Given the description of an element on the screen output the (x, y) to click on. 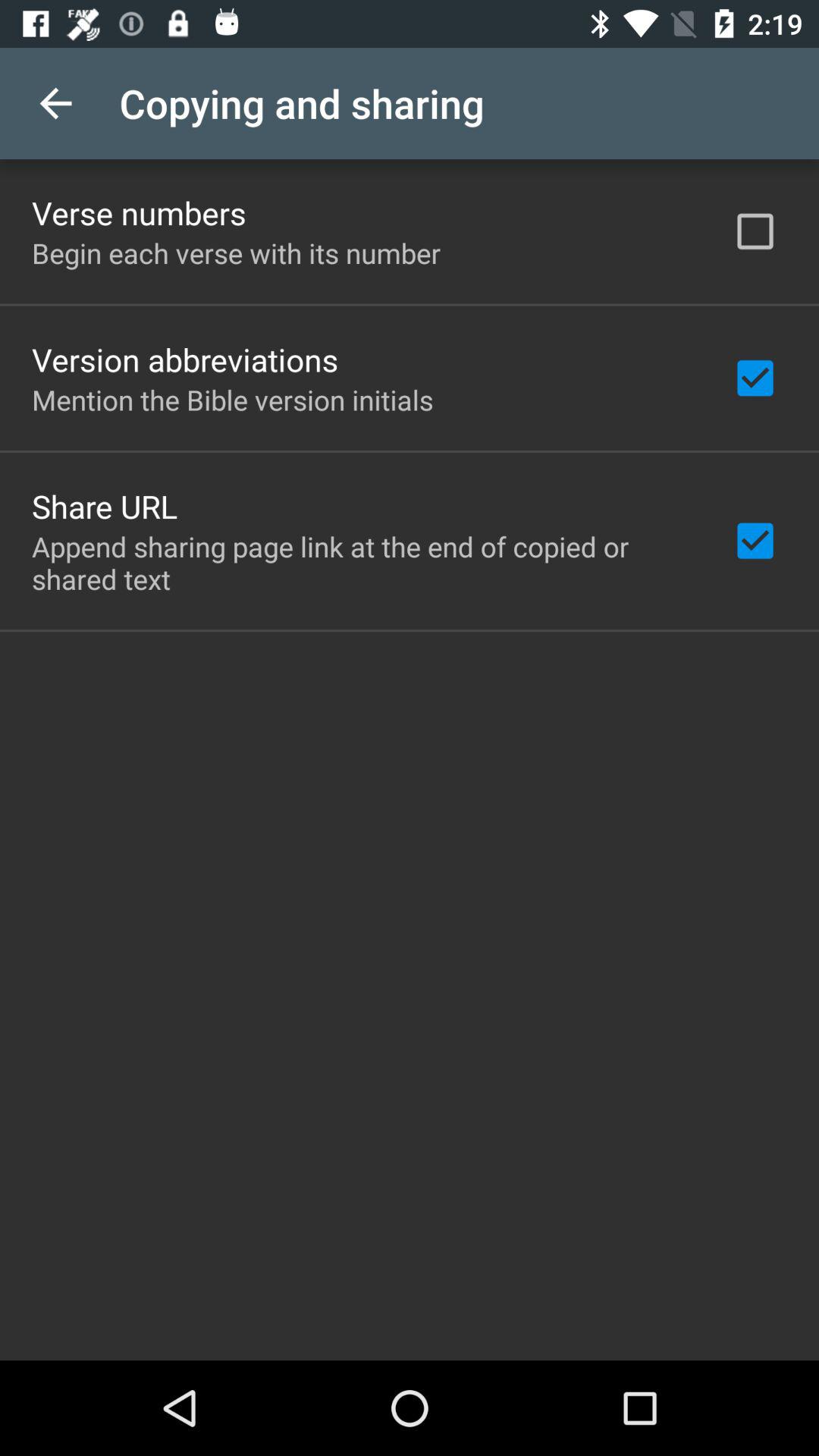
launch verse numbers item (138, 212)
